Given the description of an element on the screen output the (x, y) to click on. 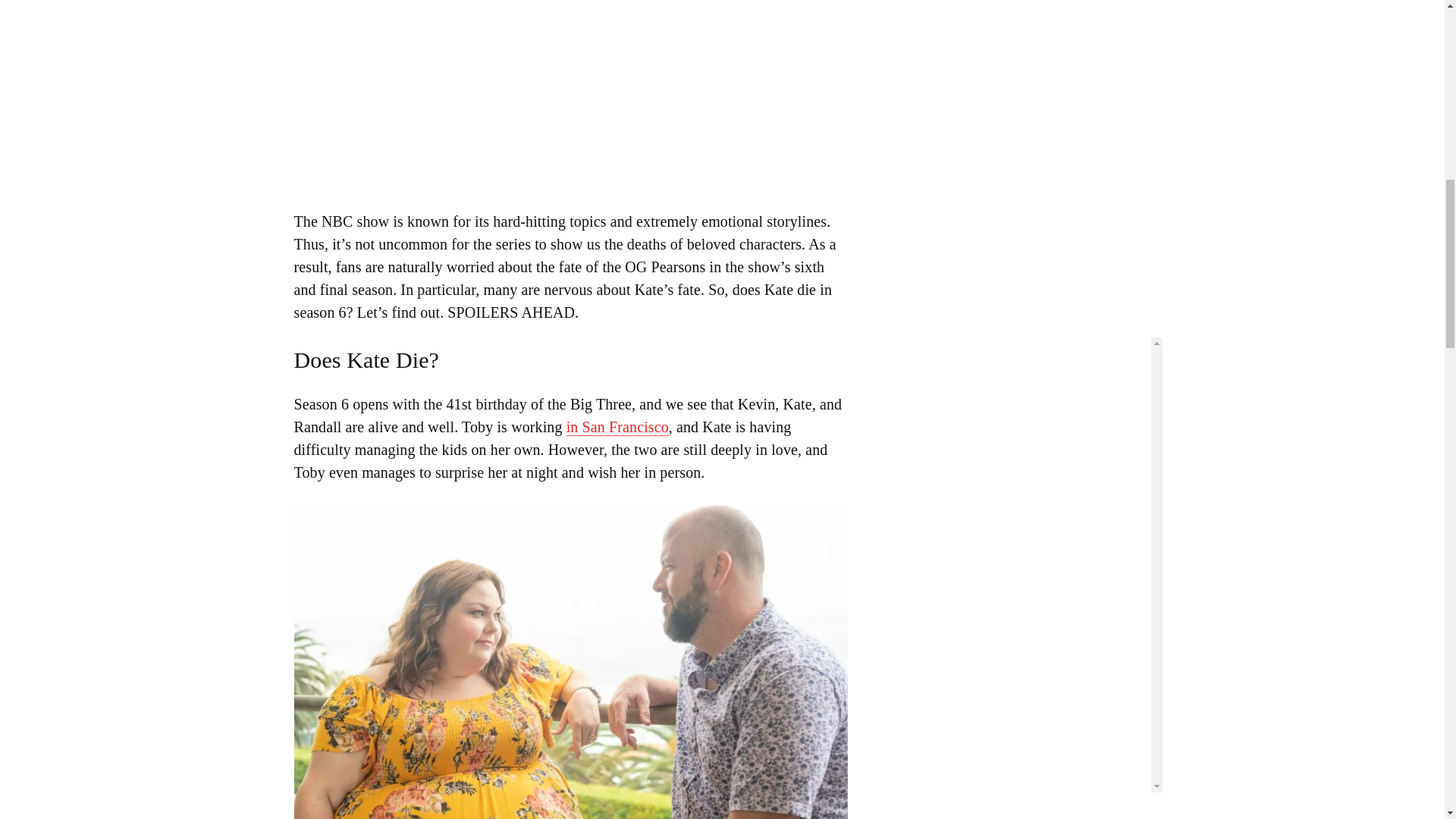
in San Francisco (617, 426)
